Given the description of an element on the screen output the (x, y) to click on. 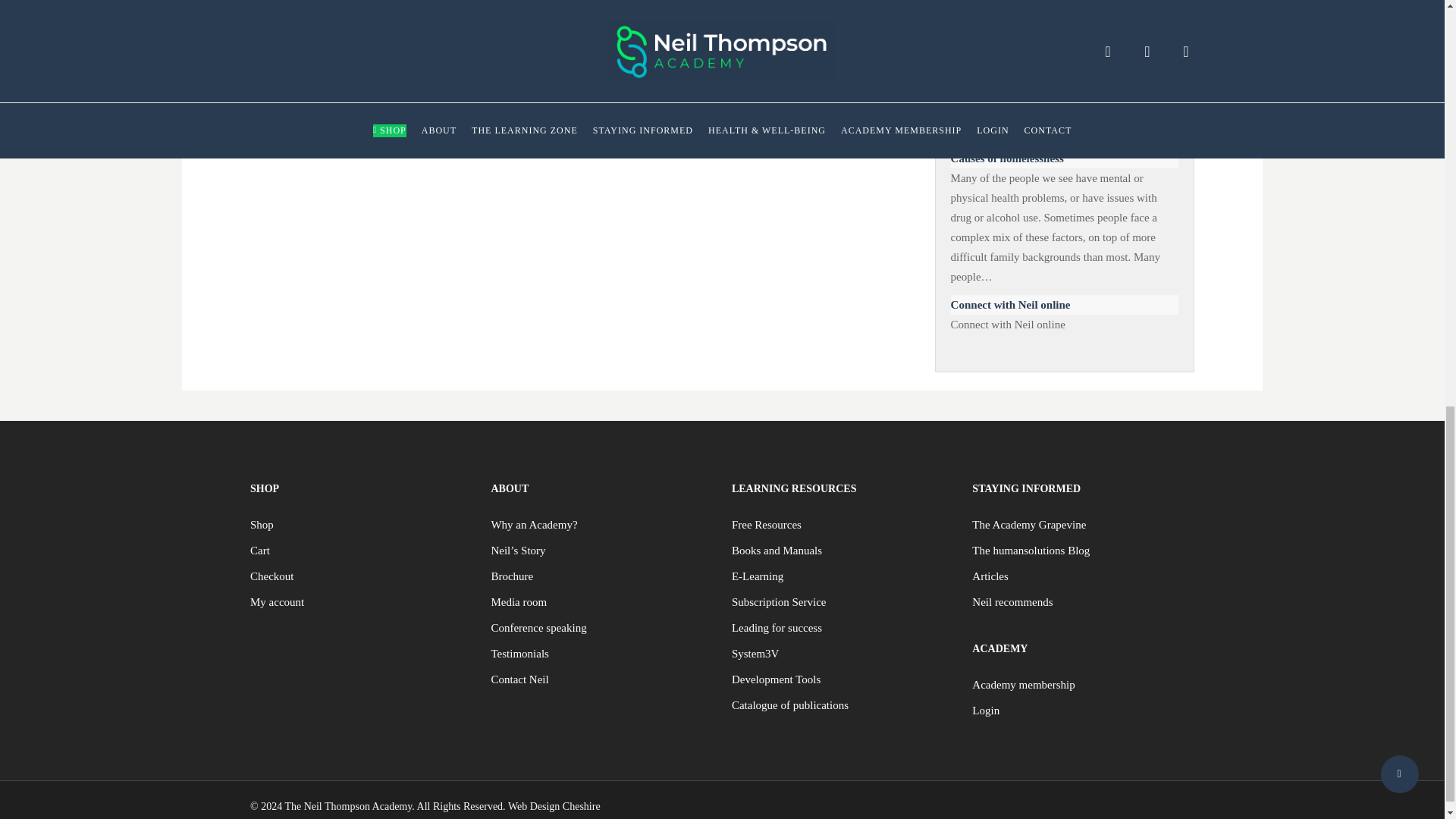
Connect with Neil online (1063, 304)
Causes of homelessness (1063, 158)
